Given the description of an element on the screen output the (x, y) to click on. 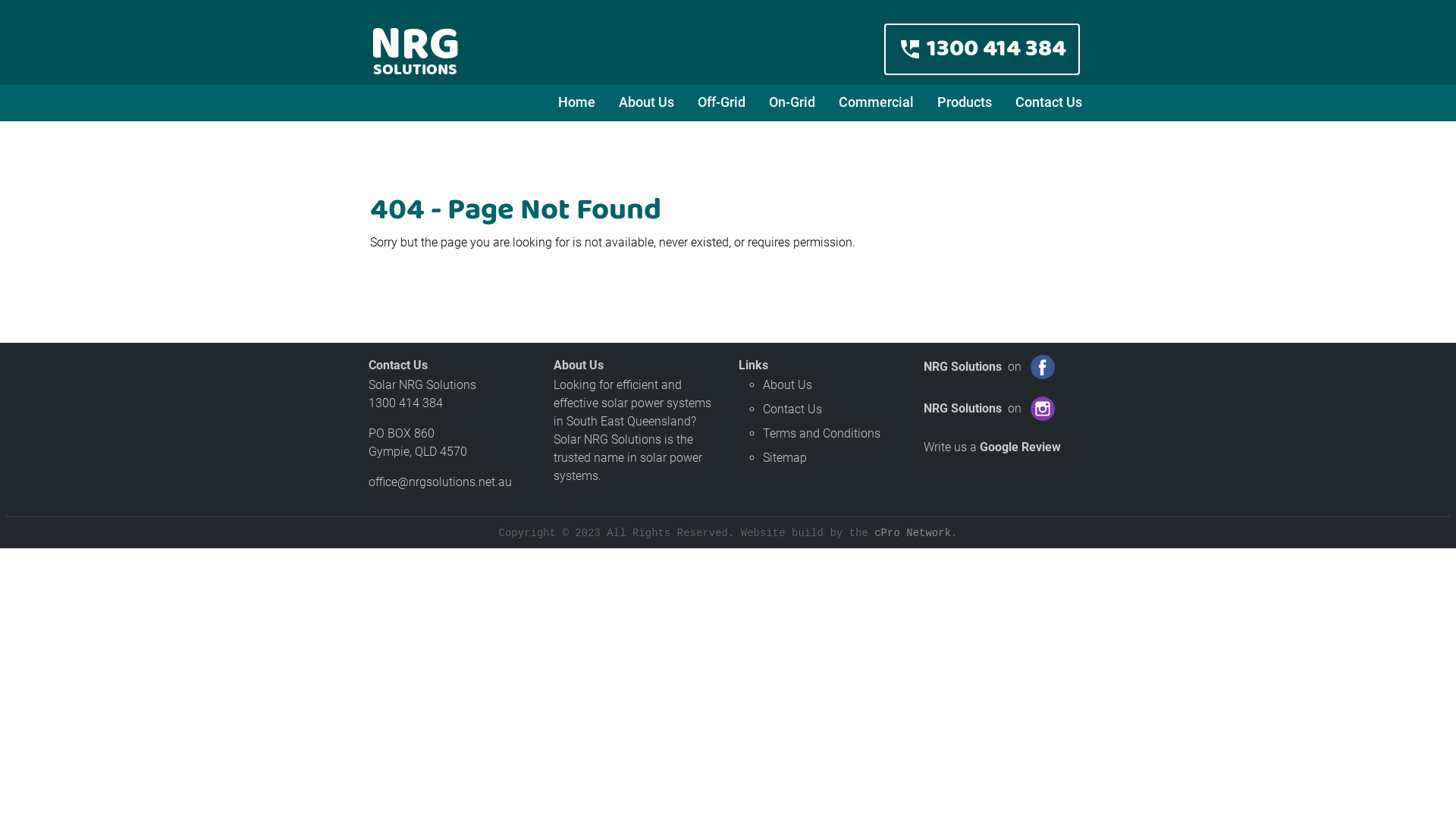
Off-Grid Element type: text (721, 101)
Contact Us Element type: text (792, 408)
Contact Us Element type: text (397, 364)
Sitemap Element type: text (784, 457)
Home Element type: text (576, 101)
Products Element type: text (963, 101)
1300 414 384 Element type: text (405, 402)
Terms and Conditions Element type: text (821, 433)
NRG Solutions on Element type: text (988, 374)
About Us Element type: text (646, 101)
NRG Solutions on Element type: text (988, 416)
On-Grid Element type: text (791, 101)
Contact Us Element type: text (1048, 101)
office@nrgsolutions.net.au Element type: text (439, 481)
Write us a Google Review Element type: text (991, 446)
Commercial Element type: text (875, 101)
About Us Element type: text (787, 384)
1300 414 384 Element type: text (981, 49)
cPro Network Element type: text (912, 533)
NRG
SOLUTIONS Element type: text (415, 42)
